Given the description of an element on the screen output the (x, y) to click on. 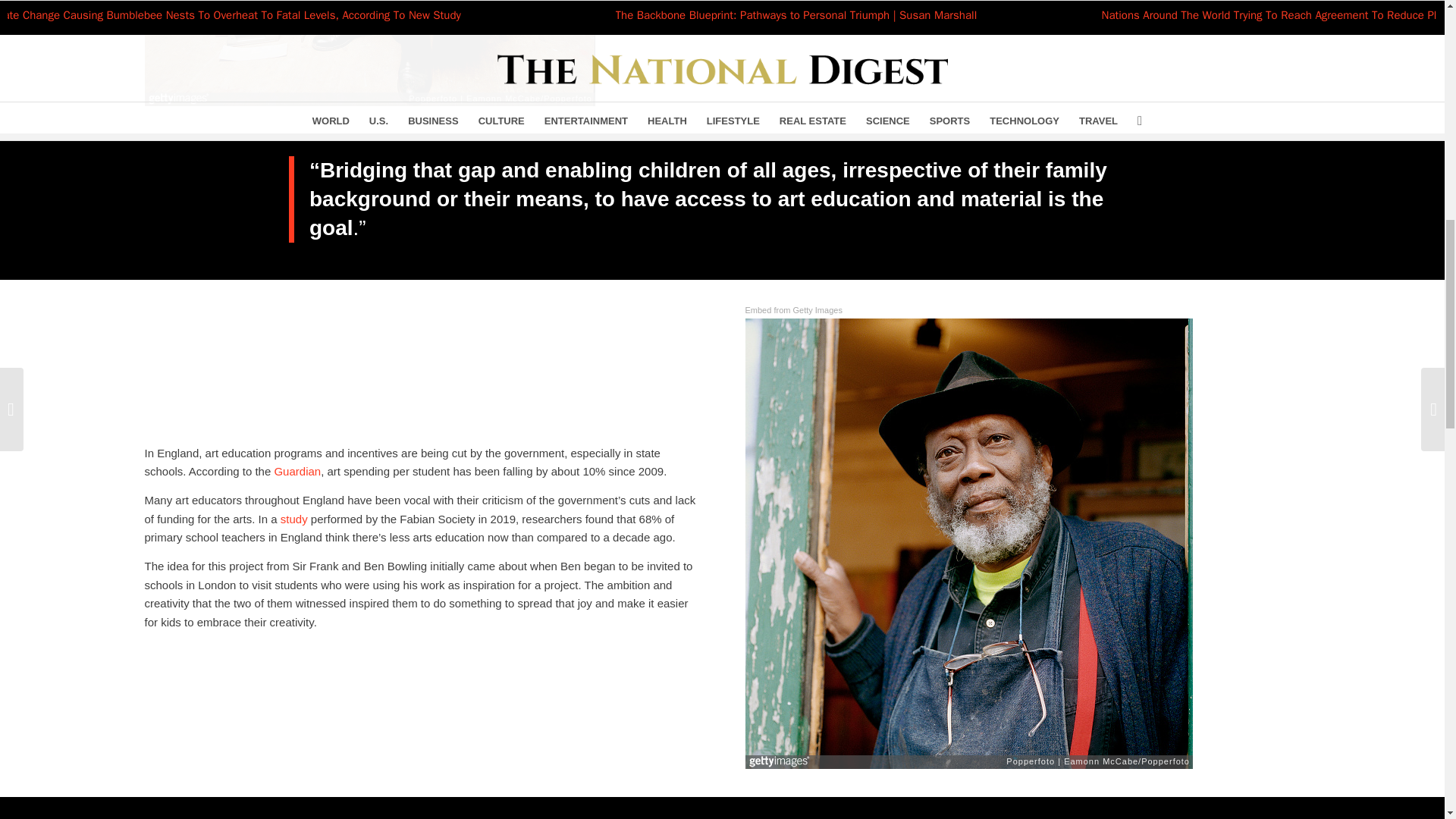
media (779, 0)
study (294, 518)
Embed from Getty Images (792, 310)
Guardian (296, 471)
